Given the description of an element on the screen output the (x, y) to click on. 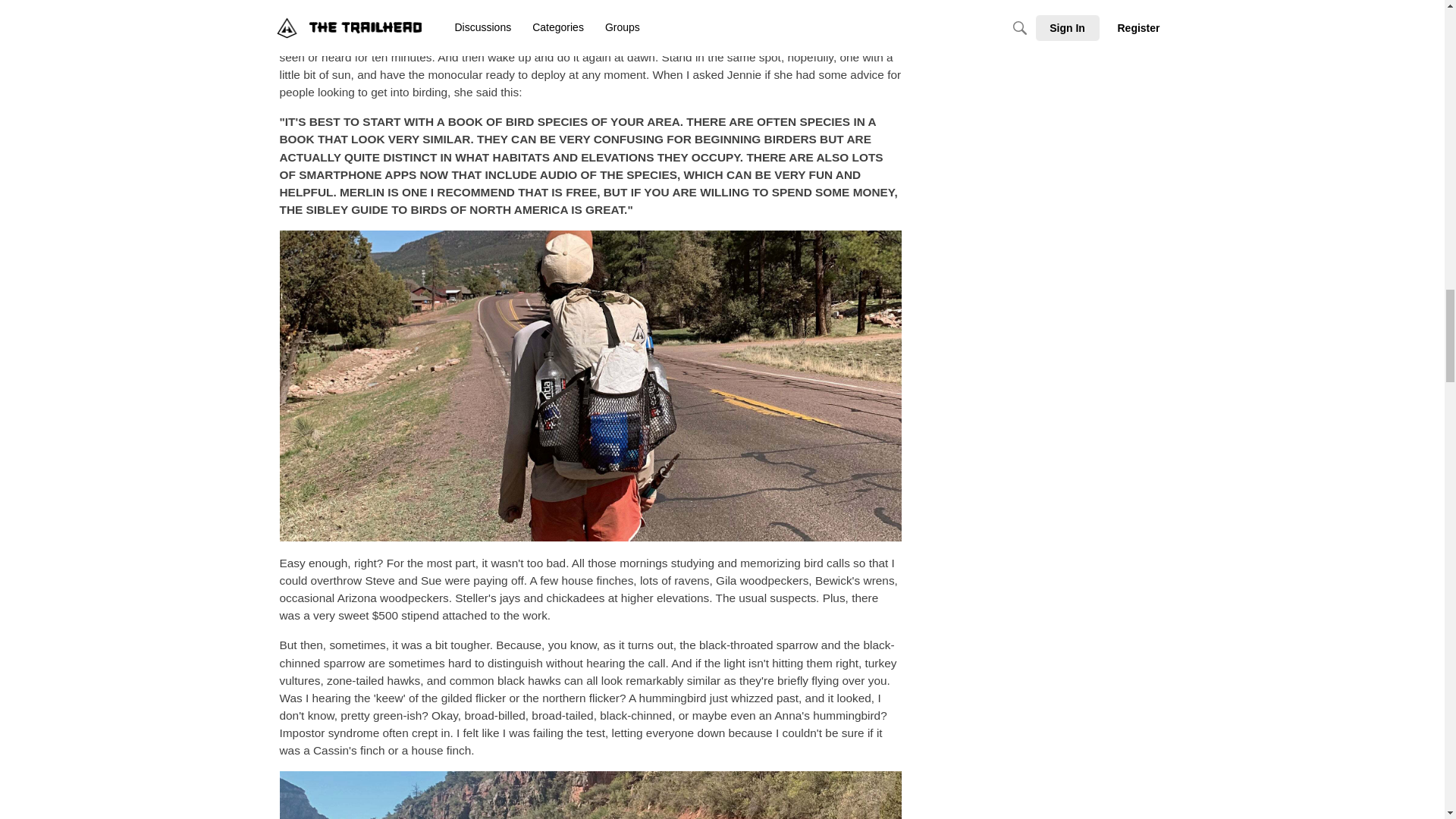
there is a great video (441, 21)
